Given the description of an element on the screen output the (x, y) to click on. 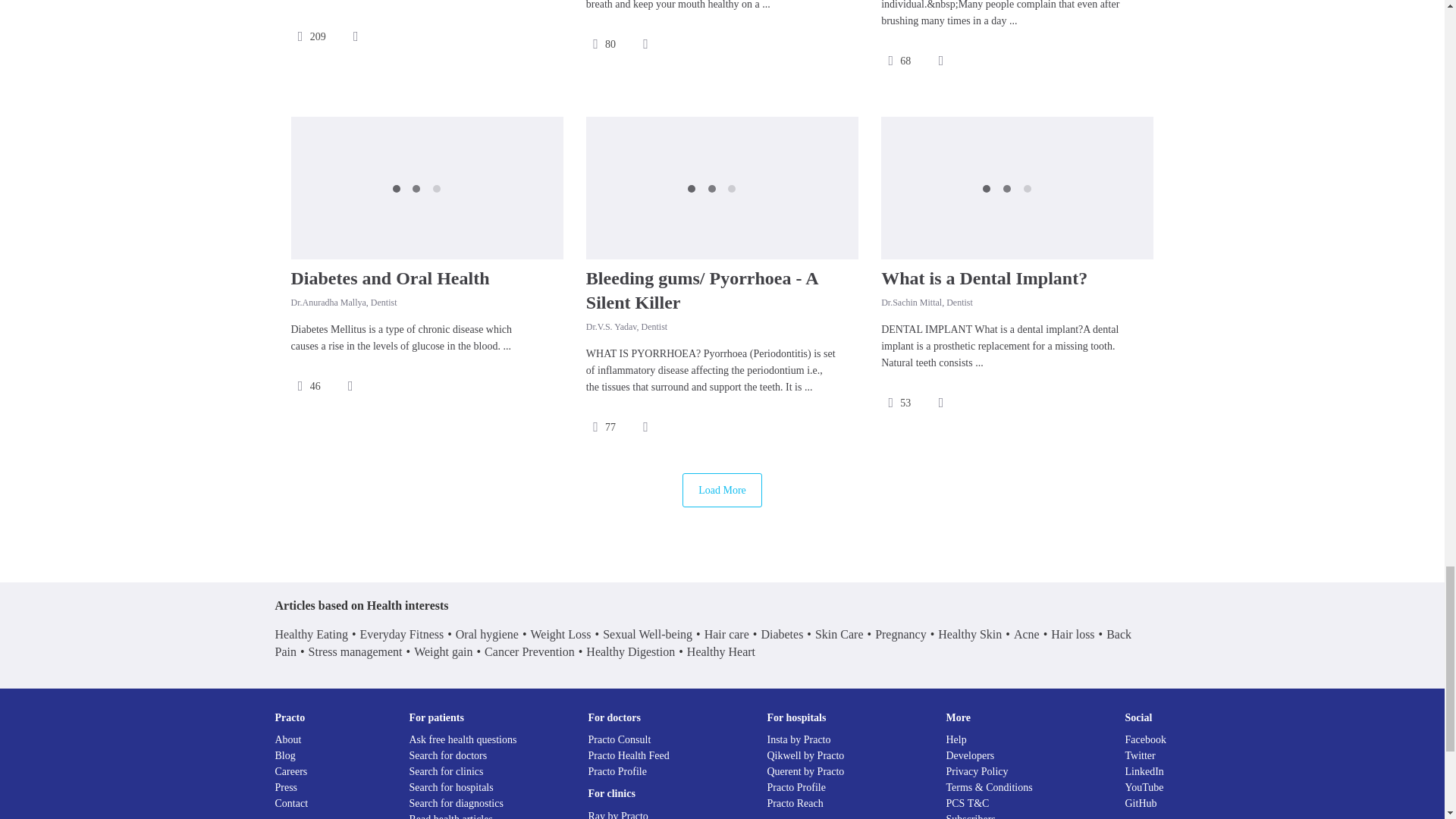
Ask free health questions (462, 739)
Search for doctors (448, 755)
Blog (285, 755)
Search for diagnostics (456, 803)
Search for clinics (446, 771)
About (288, 739)
Read Health Articles (451, 816)
Contact (291, 803)
